Given the description of an element on the screen output the (x, y) to click on. 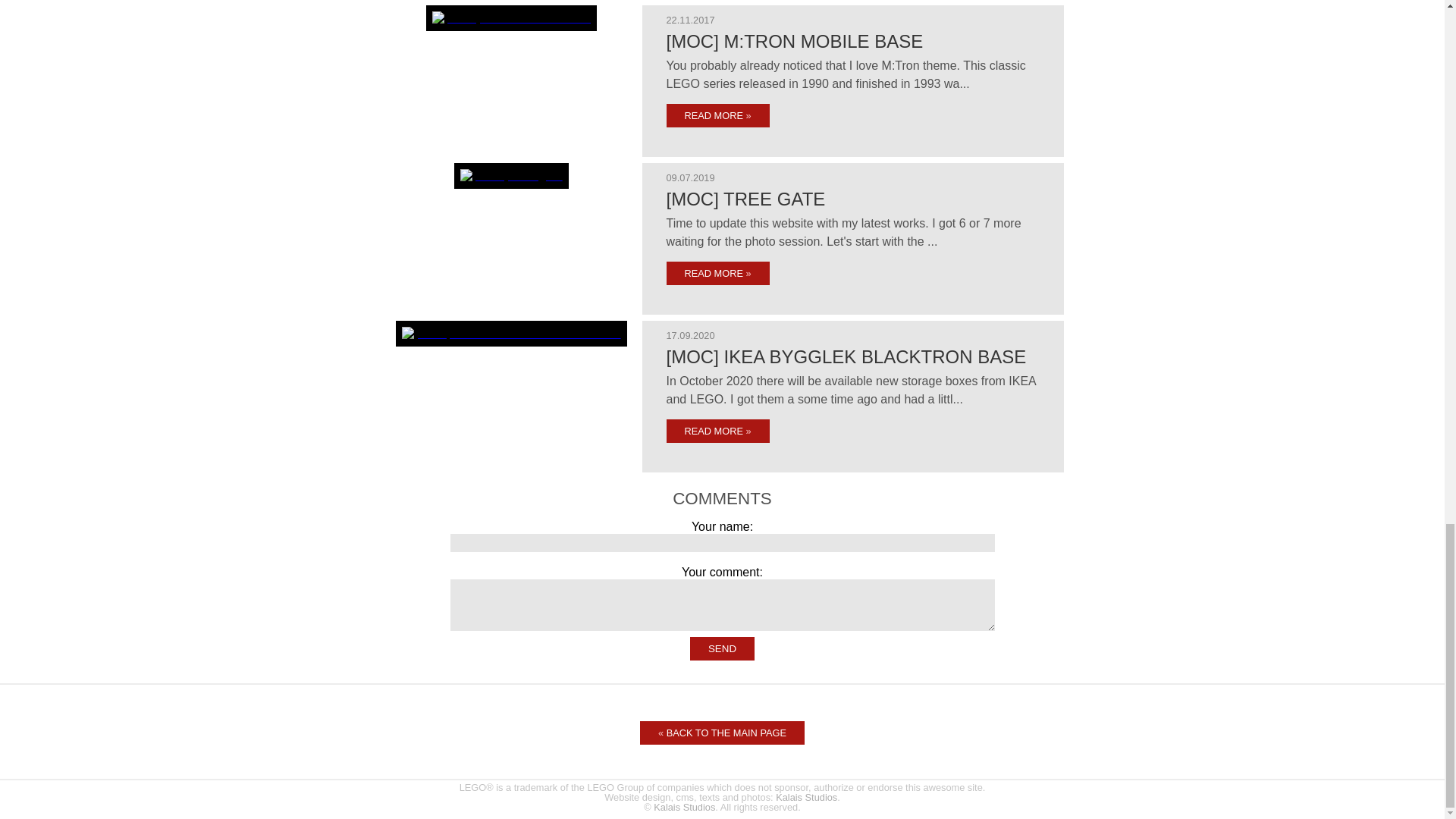
Kalais Studios (683, 807)
Send (722, 648)
Kalais Studios (806, 797)
Send (722, 648)
